Given the description of an element on the screen output the (x, y) to click on. 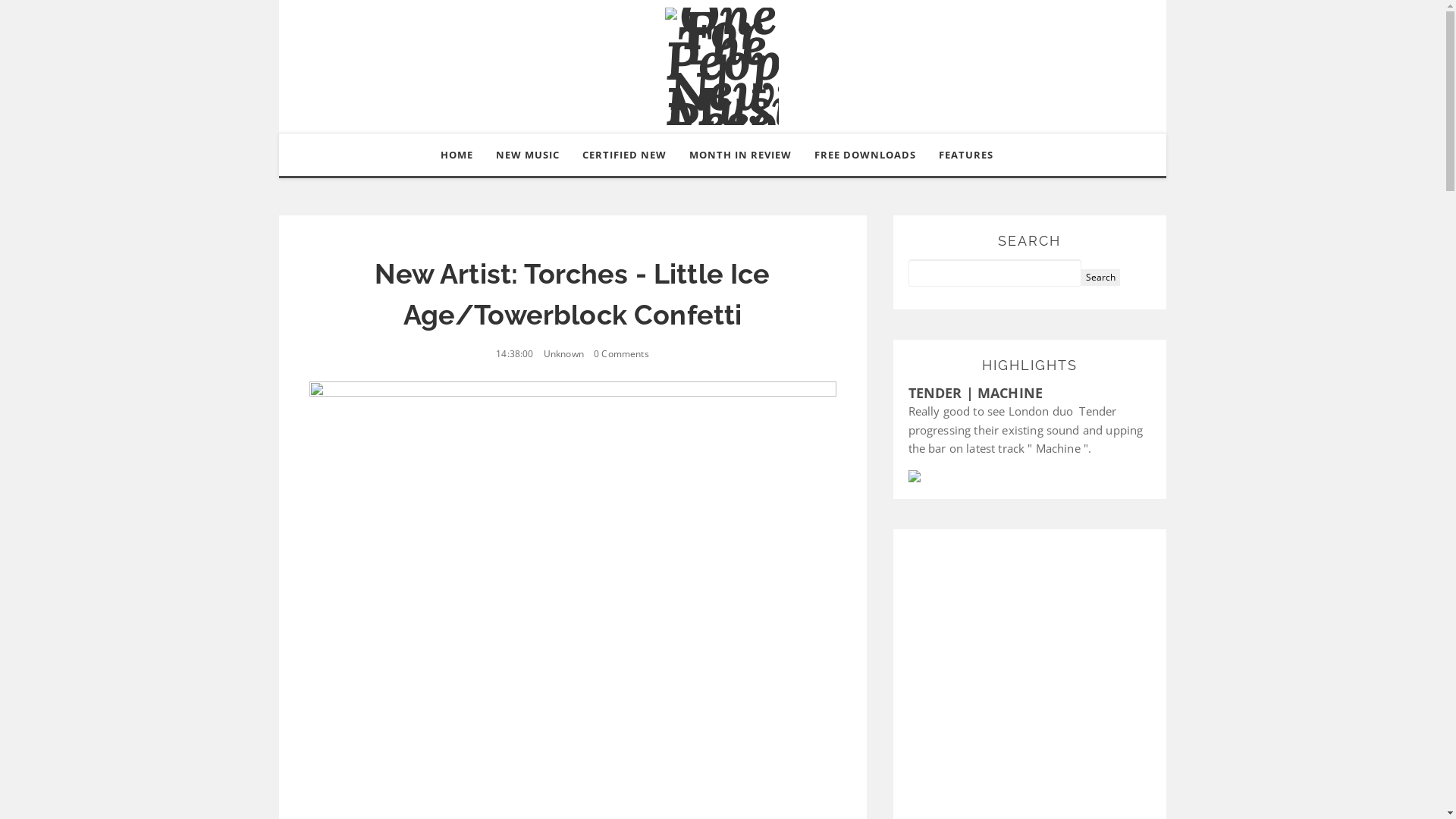
search Element type: hover (1100, 277)
HOME Element type: text (456, 154)
search Element type: hover (994, 272)
Search Element type: text (1100, 277)
NEW MUSIC Element type: text (527, 154)
CERTIFIED NEW Element type: text (624, 154)
MONTH IN REVIEW Element type: text (740, 154)
FEATURES Element type: text (967, 154)
FREE DOWNLOADS Element type: text (865, 154)
TENDER | MACHINE Element type: text (975, 392)
